Given the description of an element on the screen output the (x, y) to click on. 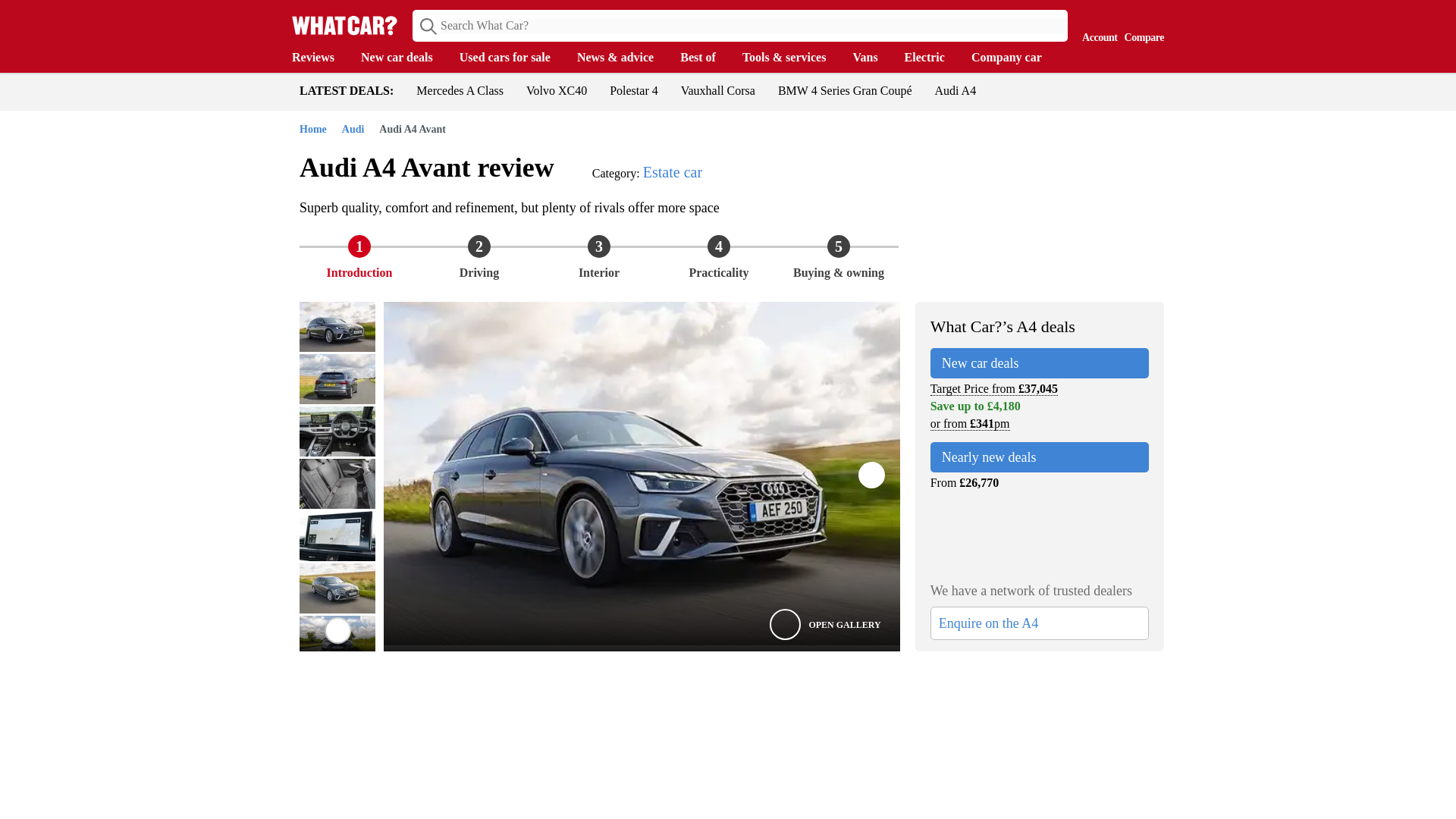
Electric (931, 57)
Used cars for sale (513, 57)
Account (1095, 24)
Best of (704, 57)
Reviews (320, 57)
Compare (1140, 24)
Vans (871, 57)
Company car (1014, 57)
WhatCar? logo (344, 25)
New car deals (404, 57)
